Given the description of an element on the screen output the (x, y) to click on. 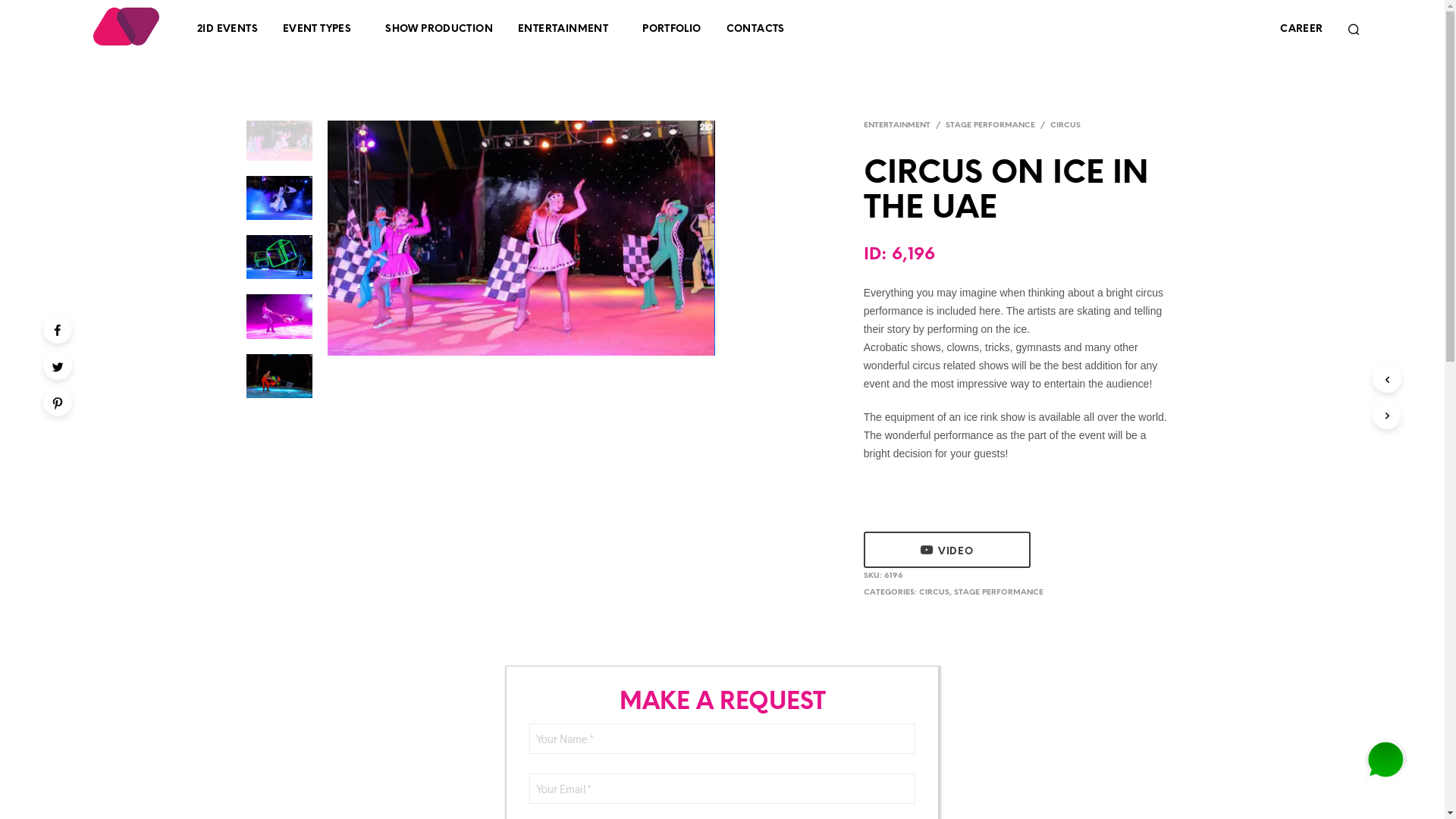
CIRCUS Element type: text (1064, 125)
ENTERTAINMENT Element type: text (562, 28)
STAGE PERFORMANCE Element type: text (990, 125)
Circus on Ice big events Element type: hover (520, 237)
ENTERTAINMENT Element type: text (899, 125)
CONTACTS Element type: text (755, 28)
EVENT TYPES Element type: text (316, 28)
PORTFOLIO Element type: text (671, 28)
SHOW PRODUCTION Element type: text (438, 28)
2ID EVENTS Element type: text (227, 28)
CAREER Element type: text (1300, 28)
STAGE PERFORMANCE Element type: text (998, 592)
CIRCUS Element type: text (934, 592)
VIDEO Element type: text (946, 549)
Circus on Ice for gala dinners Element type: hover (907, 249)
